Given the description of an element on the screen output the (x, y) to click on. 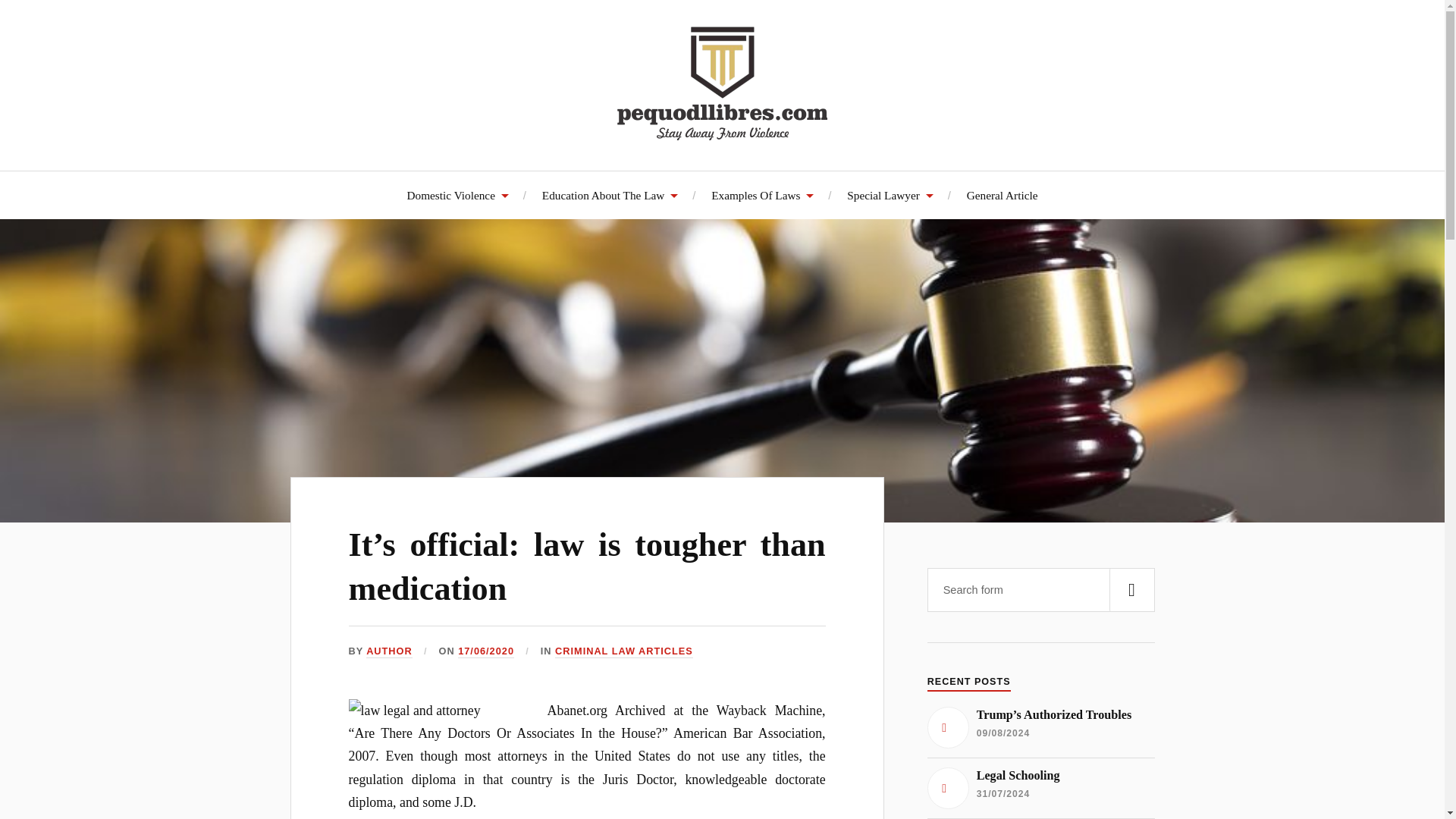
Education About The Law (609, 195)
Domestic Violence (457, 195)
Posts by Author (389, 651)
